Given the description of an element on the screen output the (x, y) to click on. 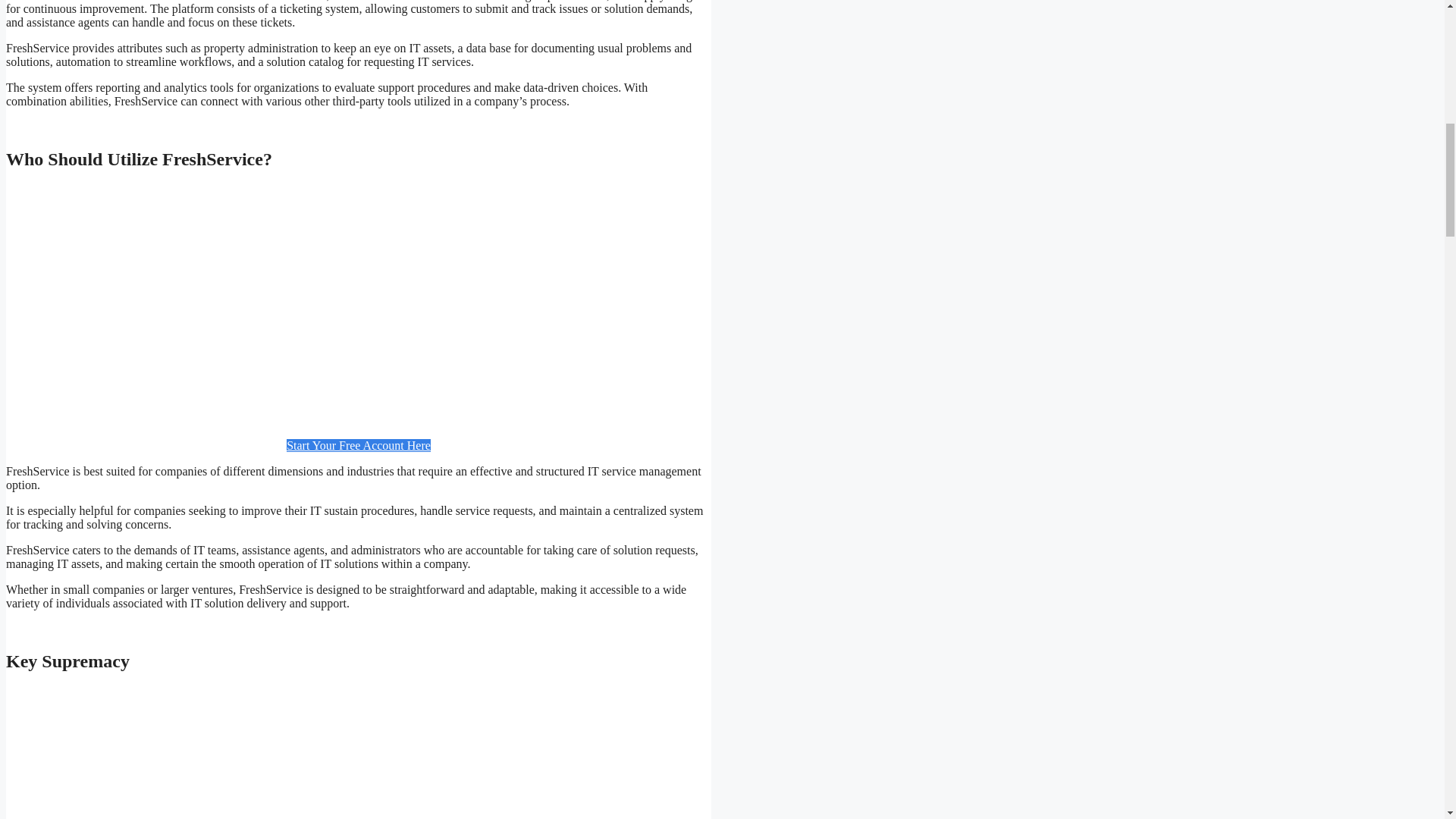
YouTube video player (354, 304)
Start Your Free Account Here (358, 445)
